Given the description of an element on the screen output the (x, y) to click on. 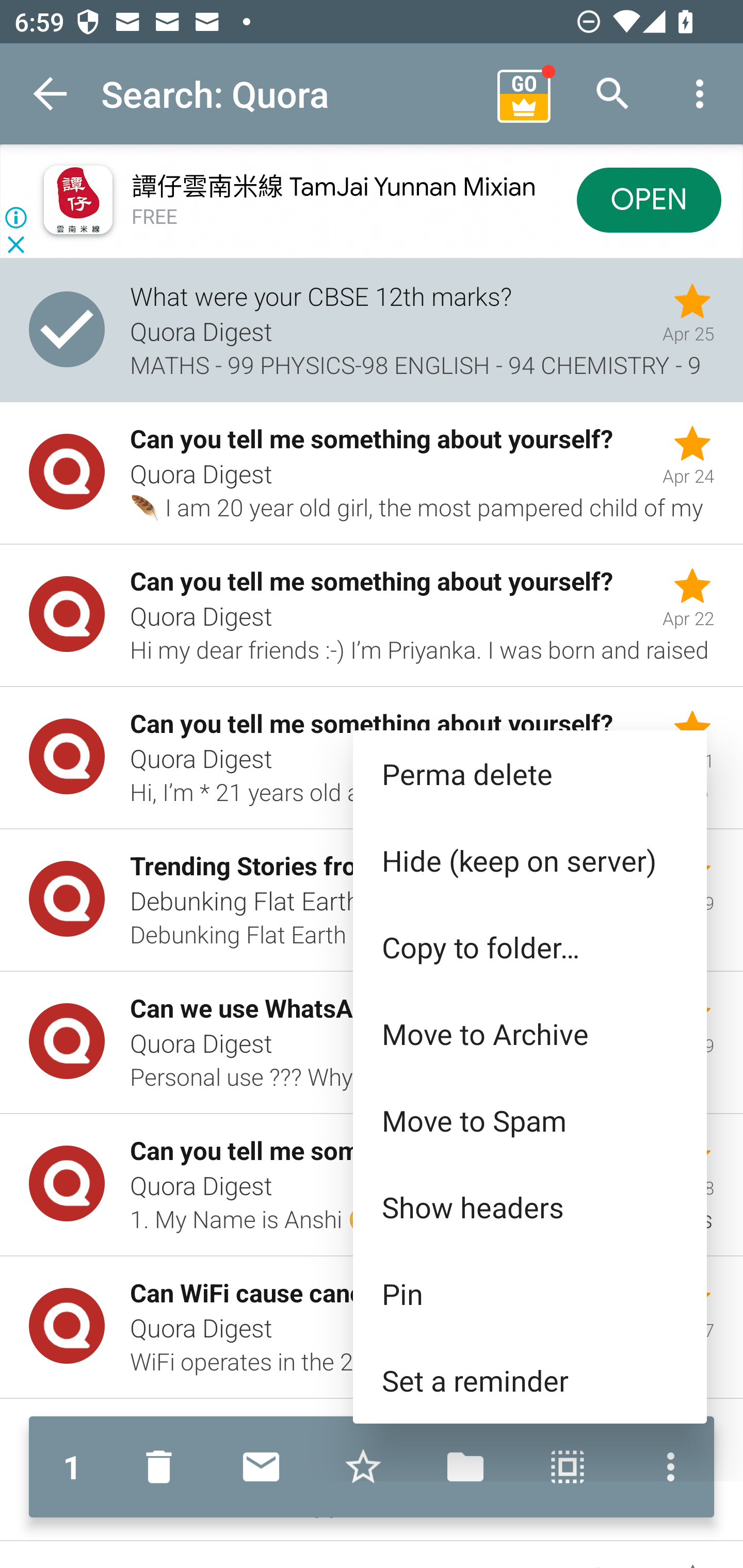
Perma delete (529, 773)
Hide (keep on server) (529, 859)
Copy to folder… (529, 946)
Move to Archive (529, 1033)
Move to Spam (529, 1120)
Show headers (529, 1206)
Pin (529, 1293)
Set a reminder (529, 1380)
